Given the description of an element on the screen output the (x, y) to click on. 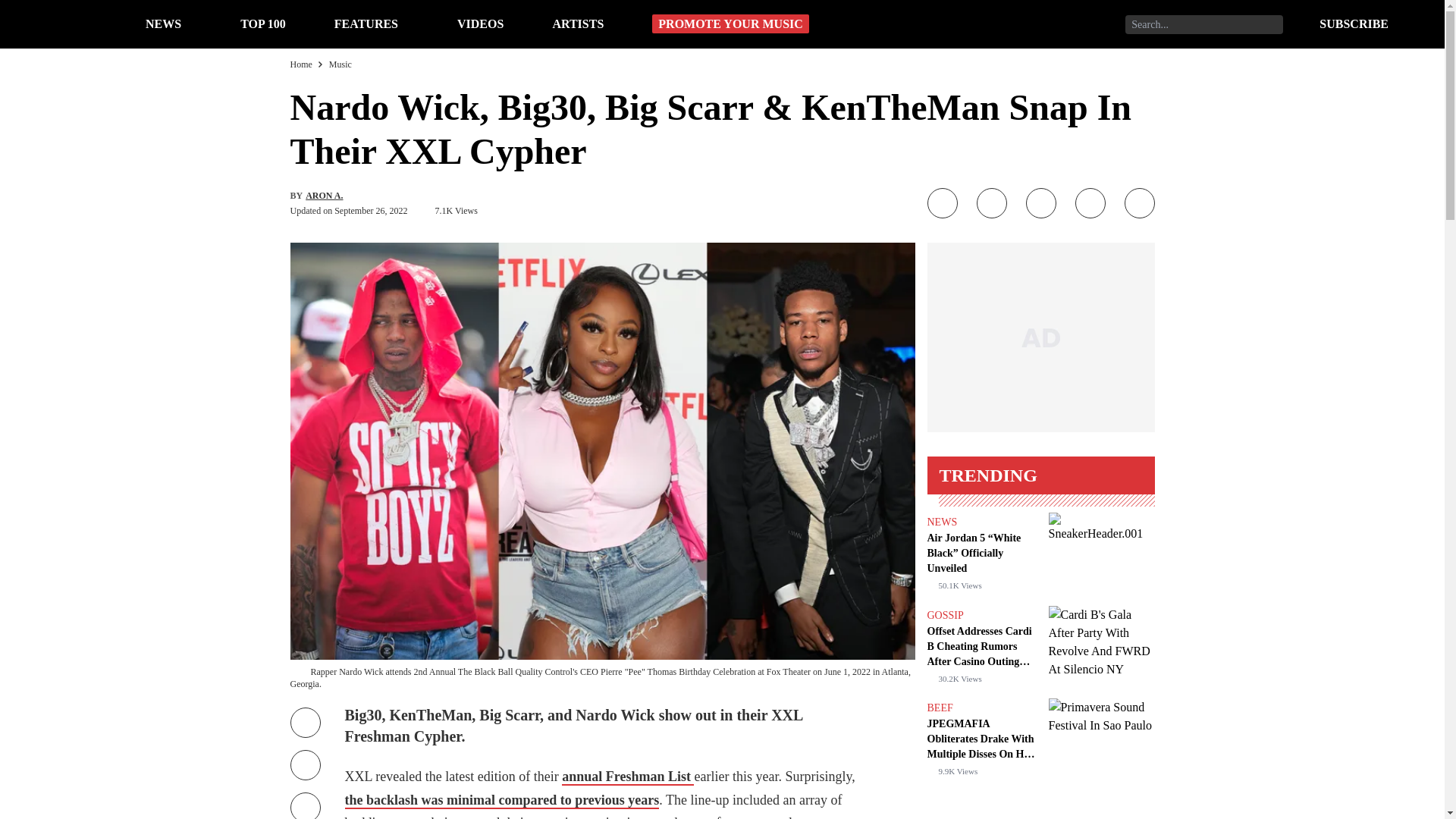
ARON A. (323, 195)
the backlash was minimal compared to previous years (598, 805)
NEWS (941, 521)
Home (300, 63)
GOSSIP (944, 614)
annual Freshman List (628, 777)
Music (340, 63)
September 26, 2022 (370, 210)
